Given the description of an element on the screen output the (x, y) to click on. 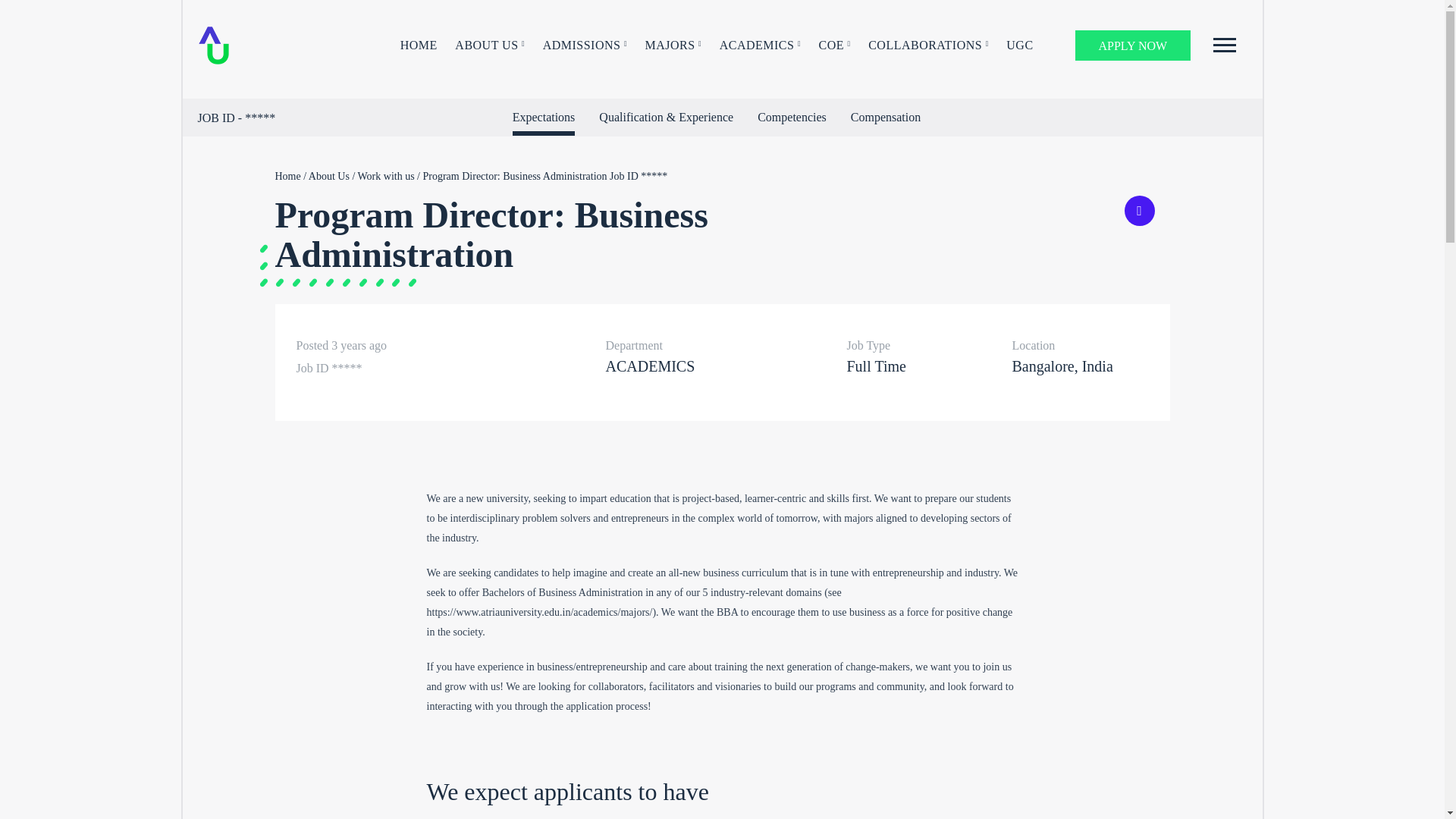
UGC (1019, 45)
ACADEMICS (759, 45)
Competencies (792, 117)
ABOUT US (489, 45)
MAJORS (673, 45)
Compensation (885, 117)
Expectations (543, 119)
APPLY NOW (1133, 45)
ADMISSIONS (585, 45)
COE (834, 45)
